Given the description of an element on the screen output the (x, y) to click on. 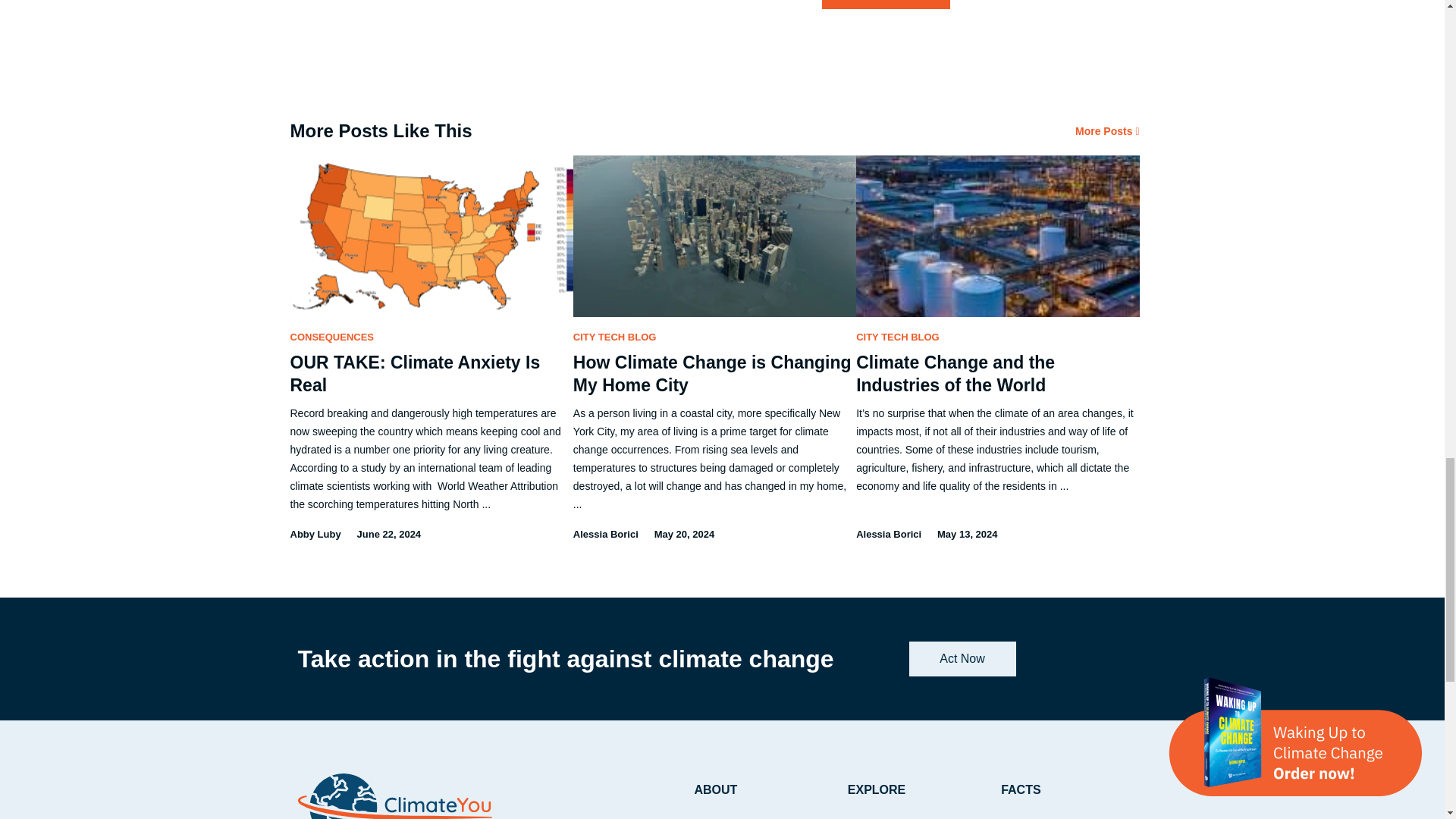
Climate Change and the Industries of the World (955, 373)
Act Now (961, 658)
More Posts (1106, 131)
OUR TAKE: Climate Anxiety Is Real (414, 373)
How Climate Change is Changing My Home City (712, 373)
footer-logo (394, 796)
Post Comment (886, 4)
Post Comment (886, 4)
